Given the description of an element on the screen output the (x, y) to click on. 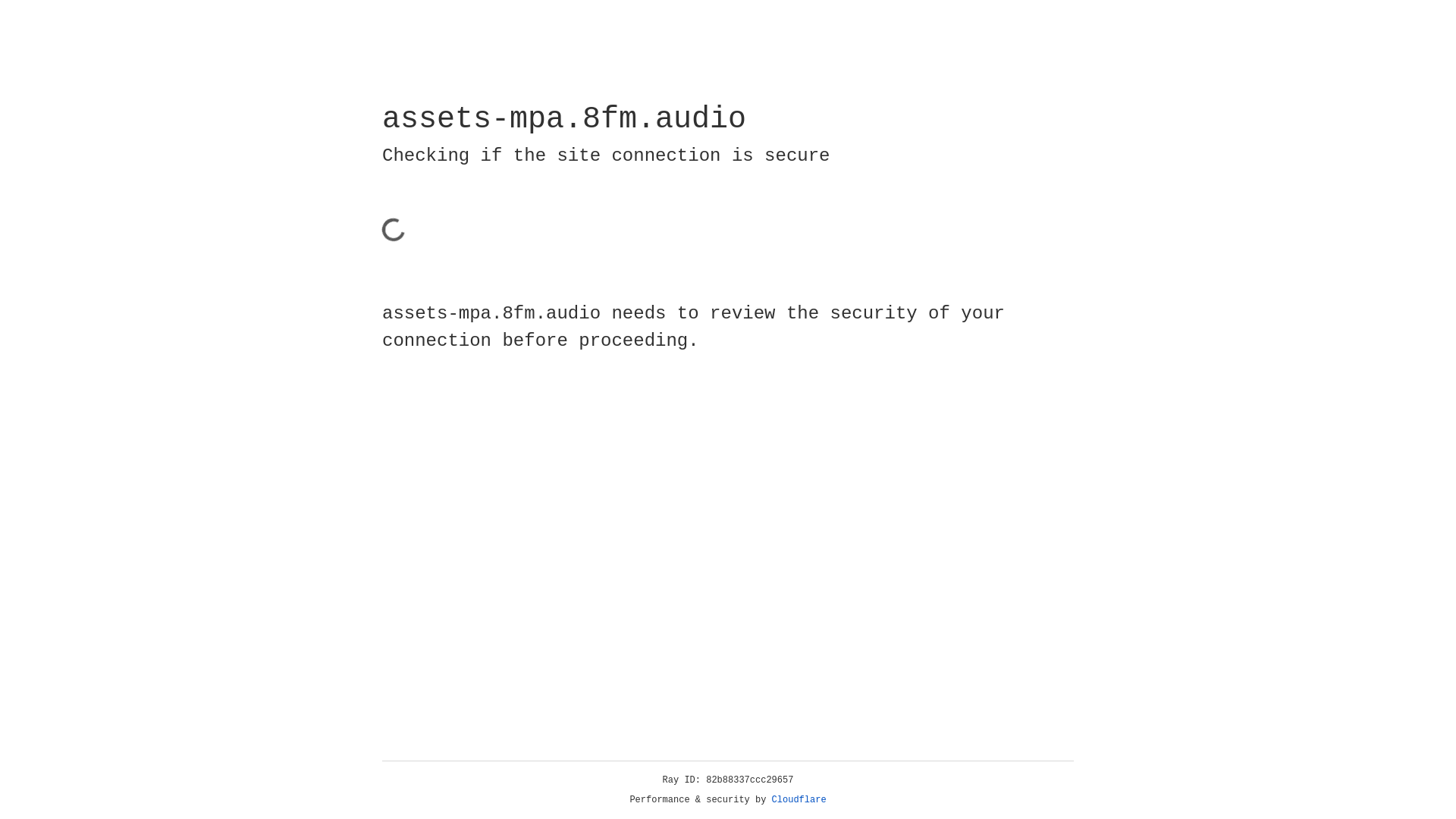
Cloudflare Element type: text (798, 799)
